Given the description of an element on the screen output the (x, y) to click on. 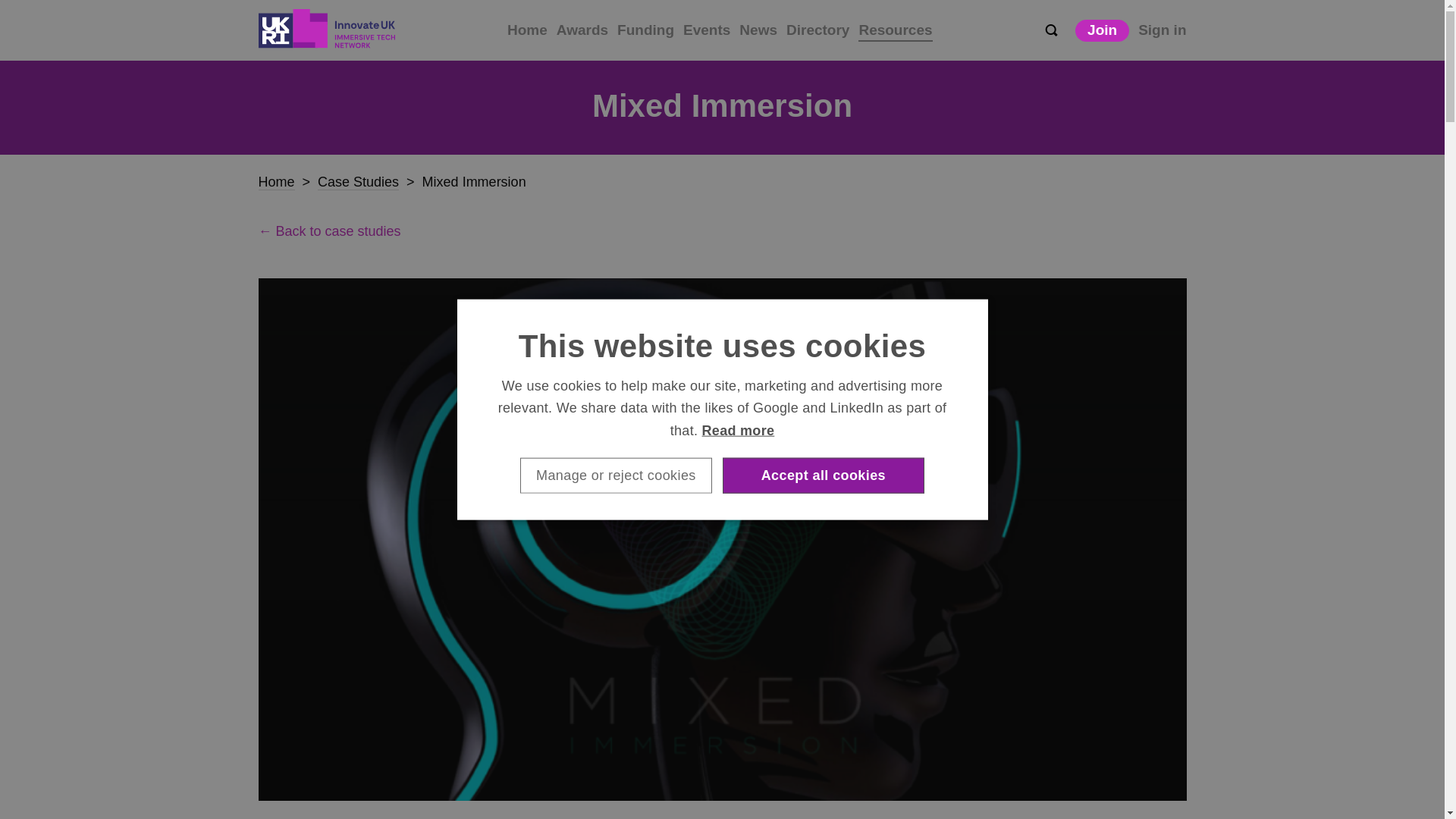
Home (526, 31)
Funding (645, 31)
Directory (817, 31)
Events (706, 31)
Awards (582, 31)
Case Studies (357, 182)
Join (1102, 30)
Sign in (1162, 31)
Home (275, 182)
News (758, 31)
